Given the description of an element on the screen output the (x, y) to click on. 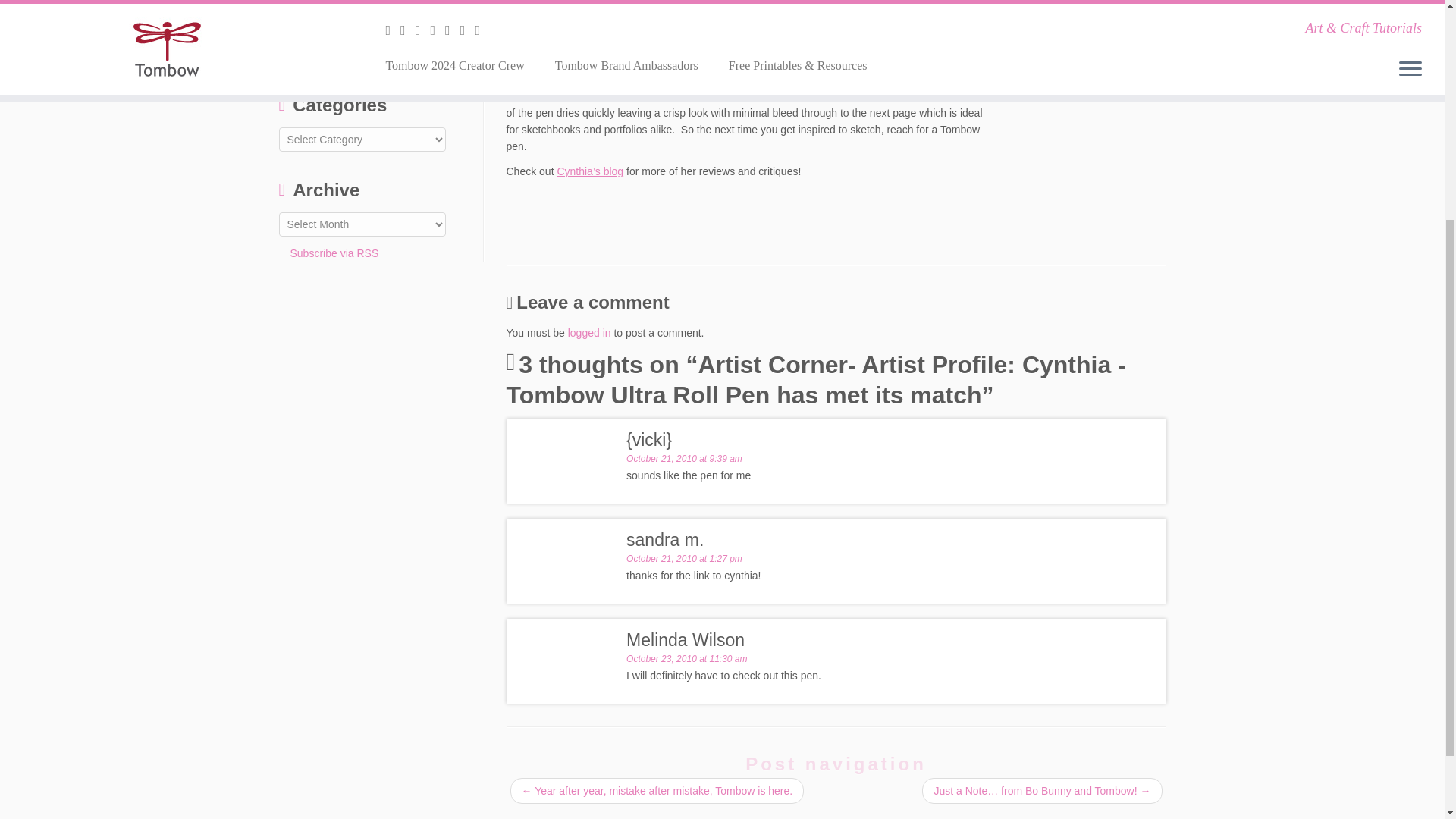
Taking Sketchnotes with the Tombow Creative Notetaking Kit (376, 24)
Subscribe via RSS (328, 252)
logged in (589, 332)
Tombow Ultra Roll Pens (745, 62)
October 21, 2010 at 9:39 am (684, 458)
Get Organized and Create a Planning Routine! (371, 62)
October 21, 2010 at 1:27 pm (684, 558)
